Given the description of an element on the screen output the (x, y) to click on. 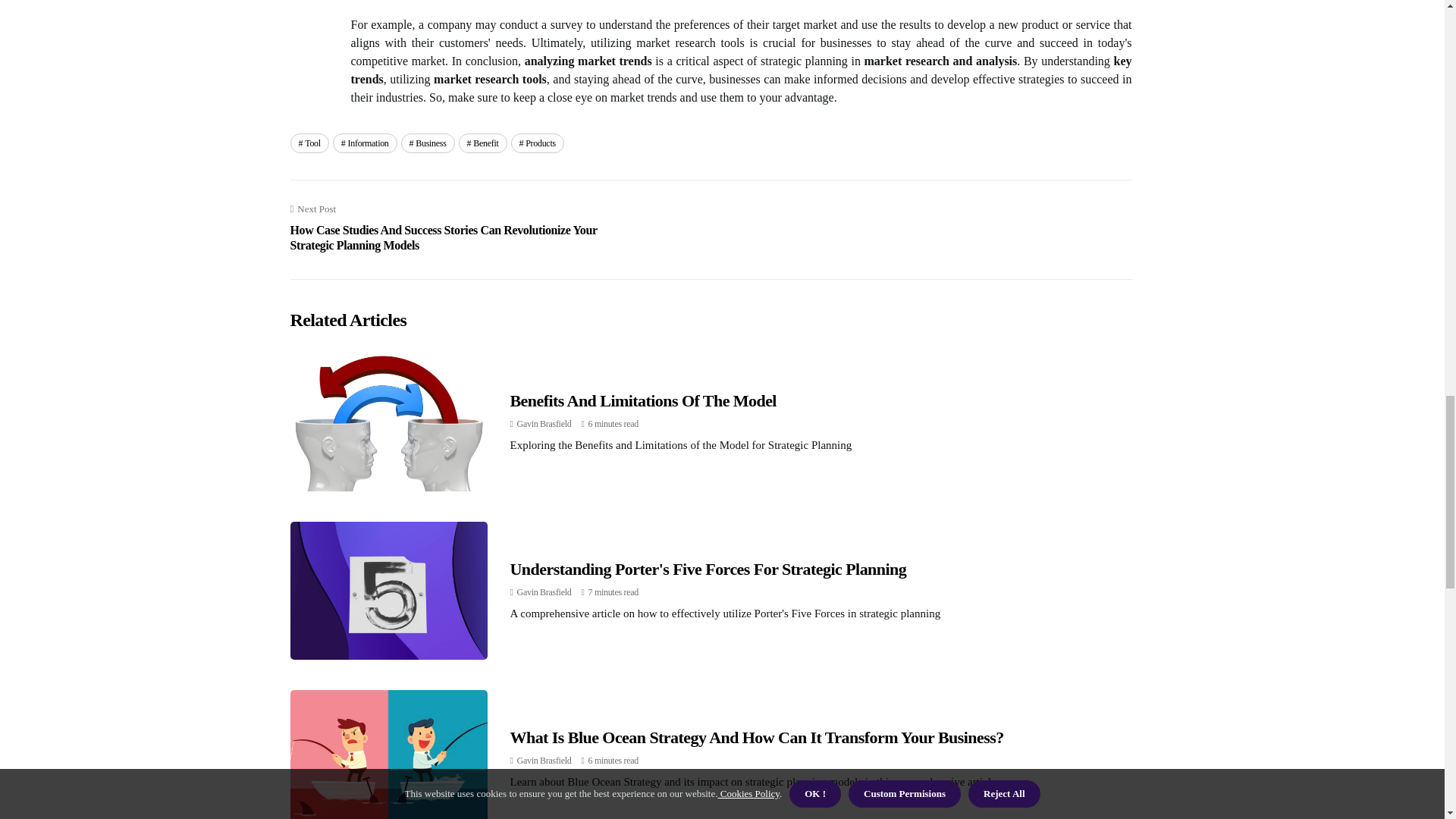
Posts by Gavin Brasfield (544, 423)
Posts by Gavin Brasfield (544, 760)
Posts by Gavin Brasfield (544, 592)
